Given the description of an element on the screen output the (x, y) to click on. 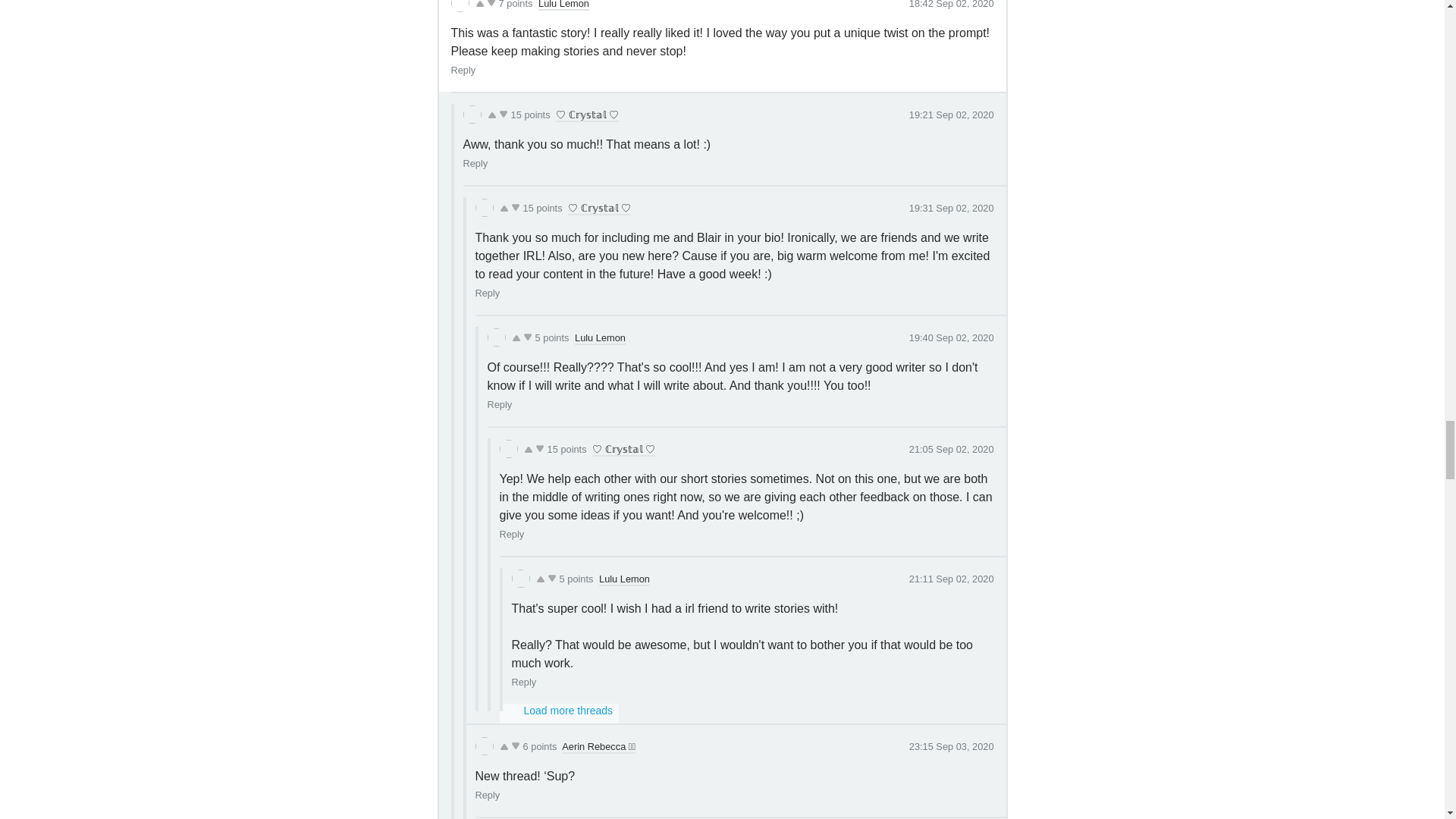
Load more threads (558, 713)
